Given the description of an element on the screen output the (x, y) to click on. 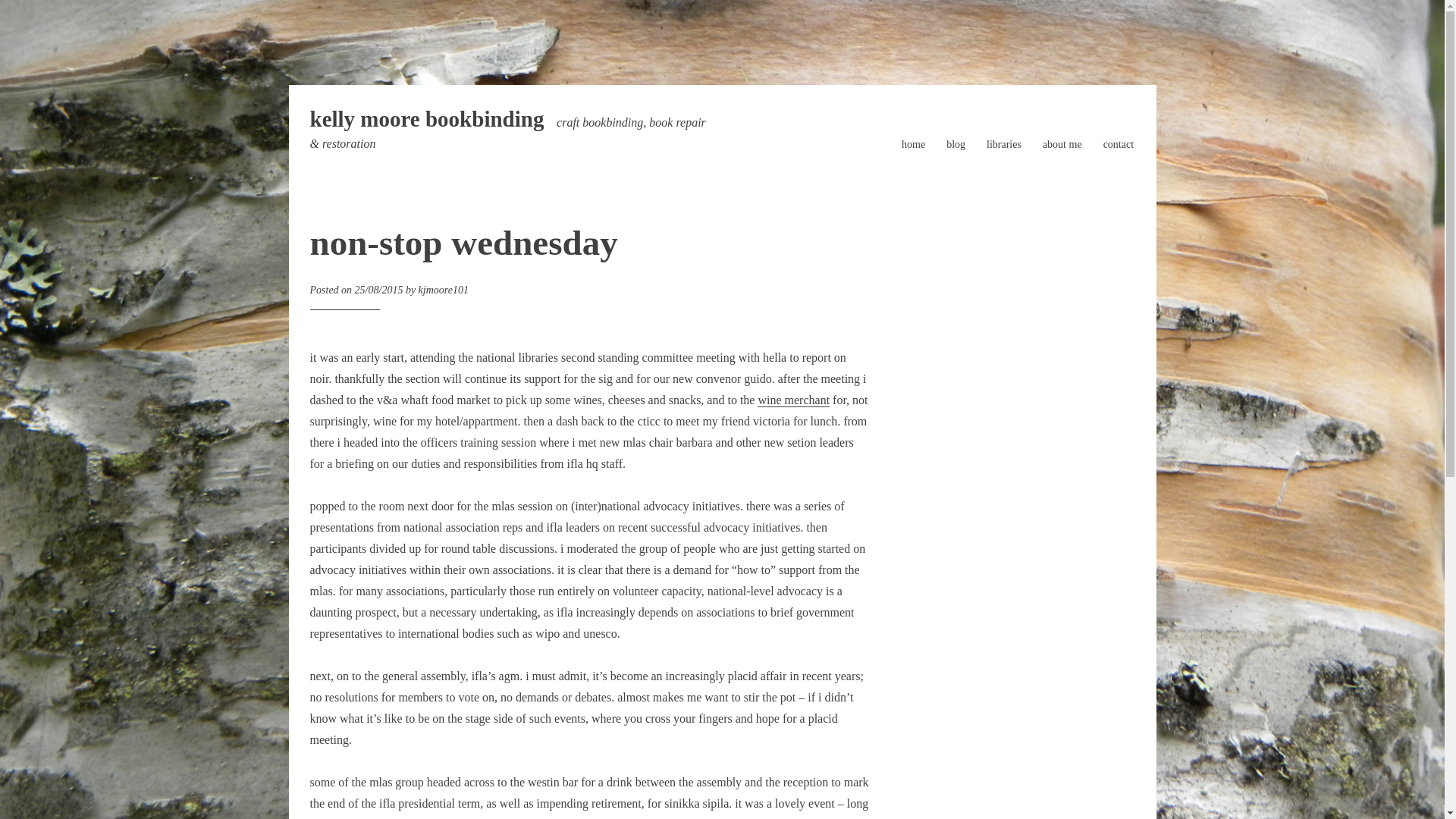
home (912, 143)
kjmoore101 (443, 289)
wine merchant (793, 400)
libraries (1004, 143)
about me (1061, 143)
kelly moore bookbinding (425, 119)
blog (955, 143)
contact (1118, 143)
